Given the description of an element on the screen output the (x, y) to click on. 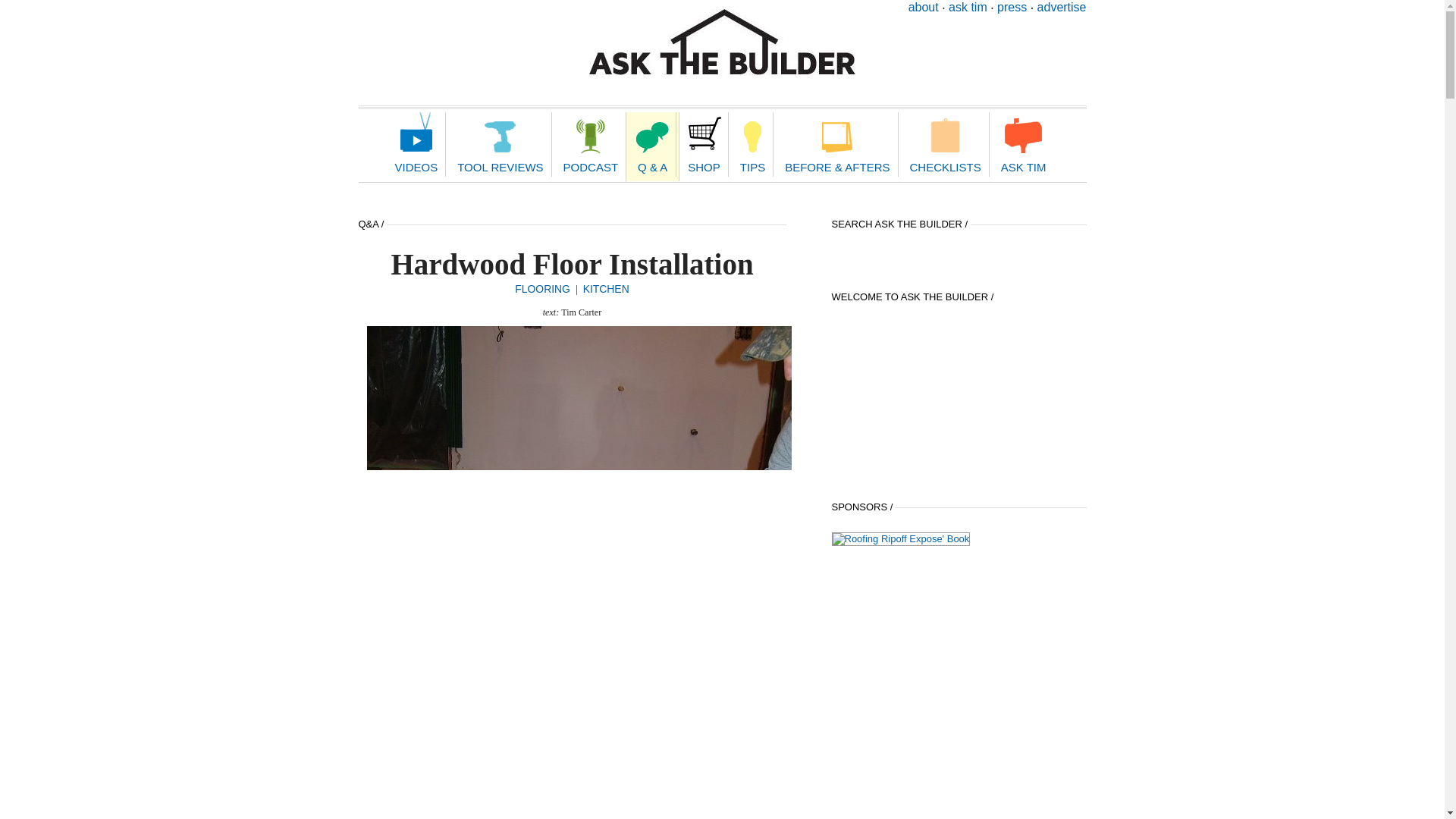
ask tim (968, 6)
PODCAST (590, 144)
ASK TIM (1023, 144)
about (923, 6)
TOOL REVIEWS (499, 144)
advertise (1061, 6)
VIDEOS (416, 144)
SHOP (703, 144)
KITCHEN (605, 288)
Ask the Builder (722, 42)
press (1011, 6)
FLOORING (542, 288)
TIPS (752, 144)
CHECKLISTS (945, 144)
